Given the description of an element on the screen output the (x, y) to click on. 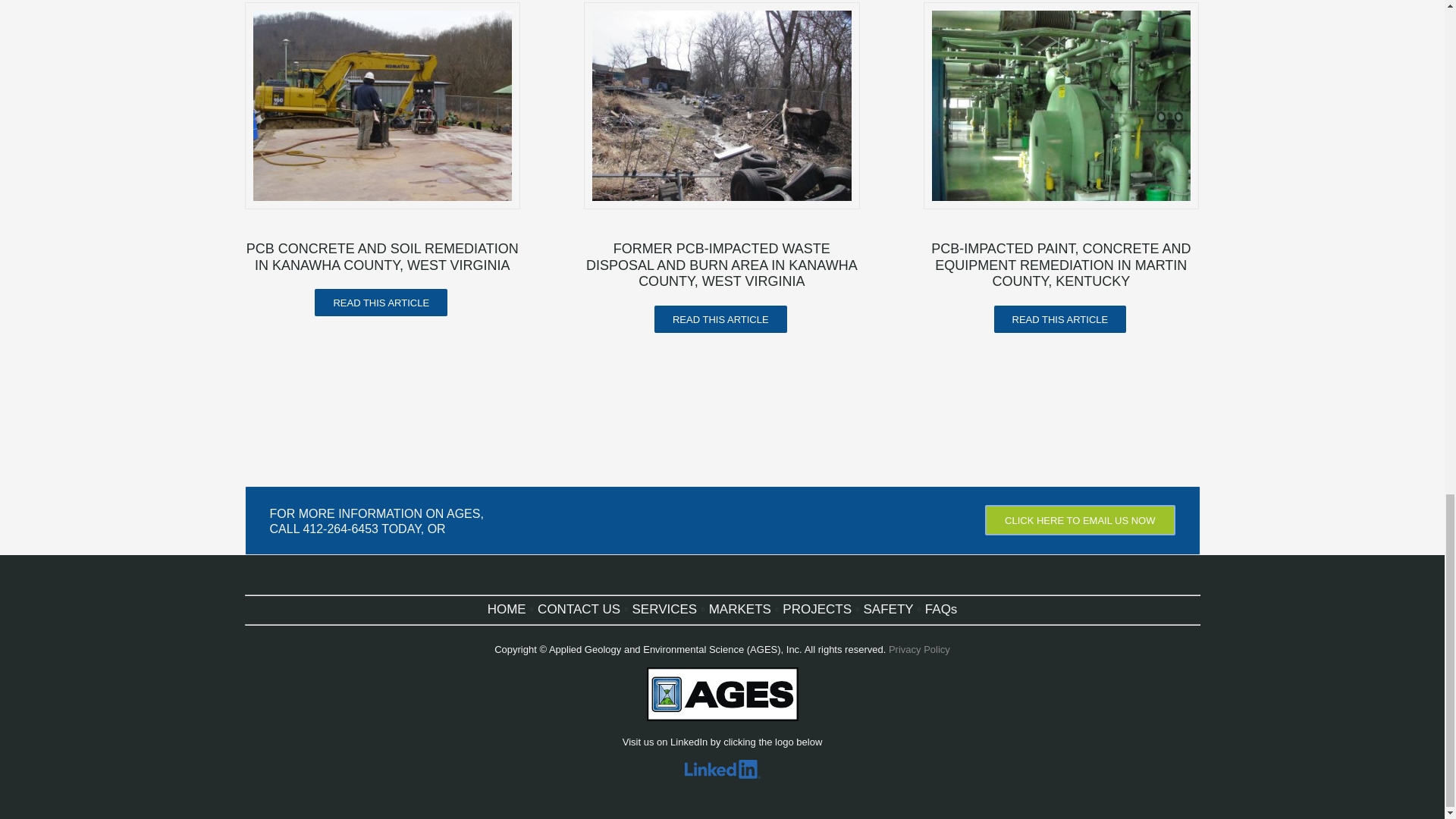
READ THIS ARTICLE (1060, 318)
READ THIS ARTICLE (380, 302)
READ THIS ARTICLE (720, 318)
